Given the description of an element on the screen output the (x, y) to click on. 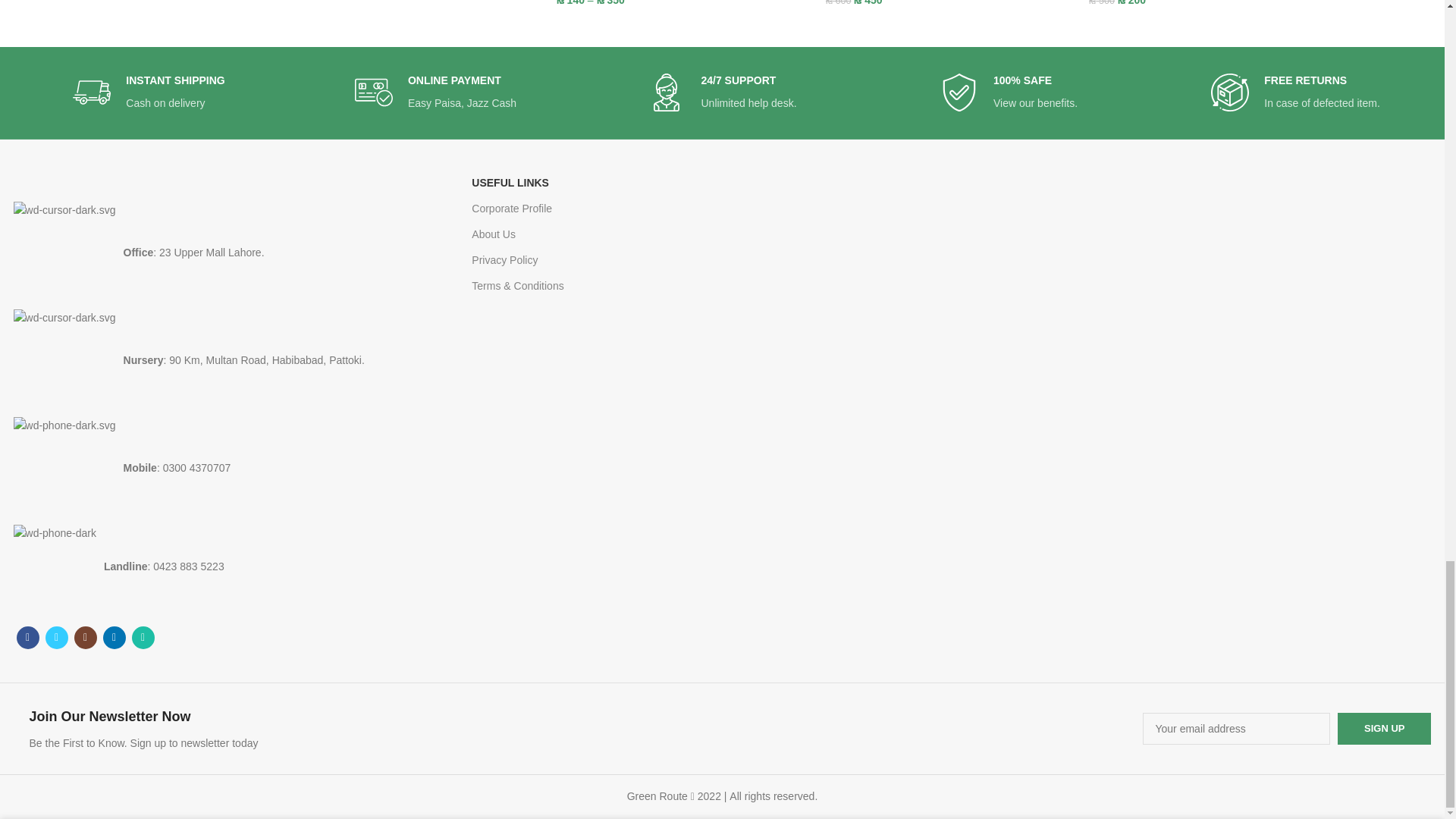
wd-cursor-dark.svg (64, 252)
Sign up (1384, 728)
wd-cursor-dark.svg (64, 360)
